Given the description of an element on the screen output the (x, y) to click on. 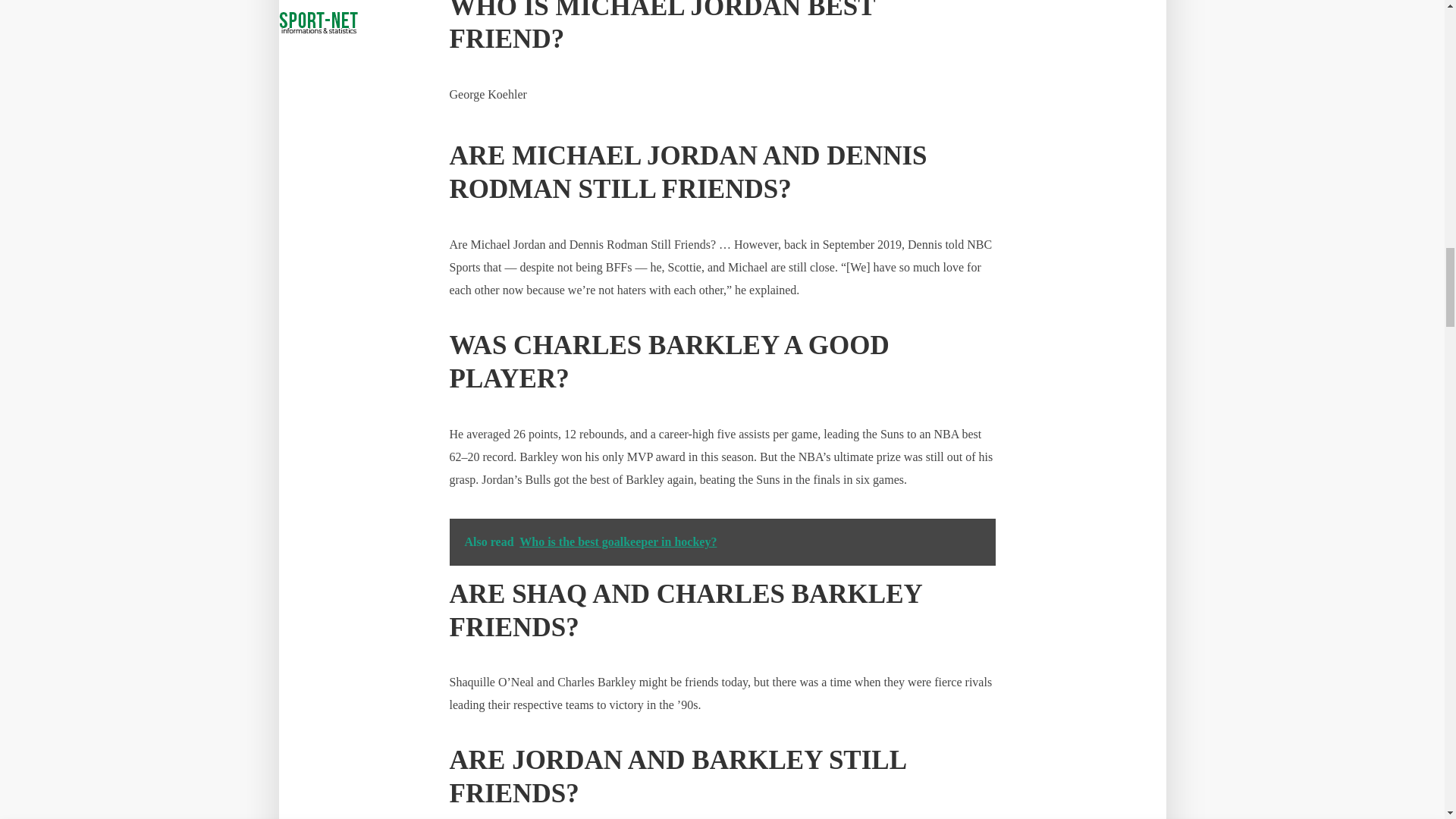
Also read  Who is the best goalkeeper in hockey? (721, 541)
